Given the description of an element on the screen output the (x, y) to click on. 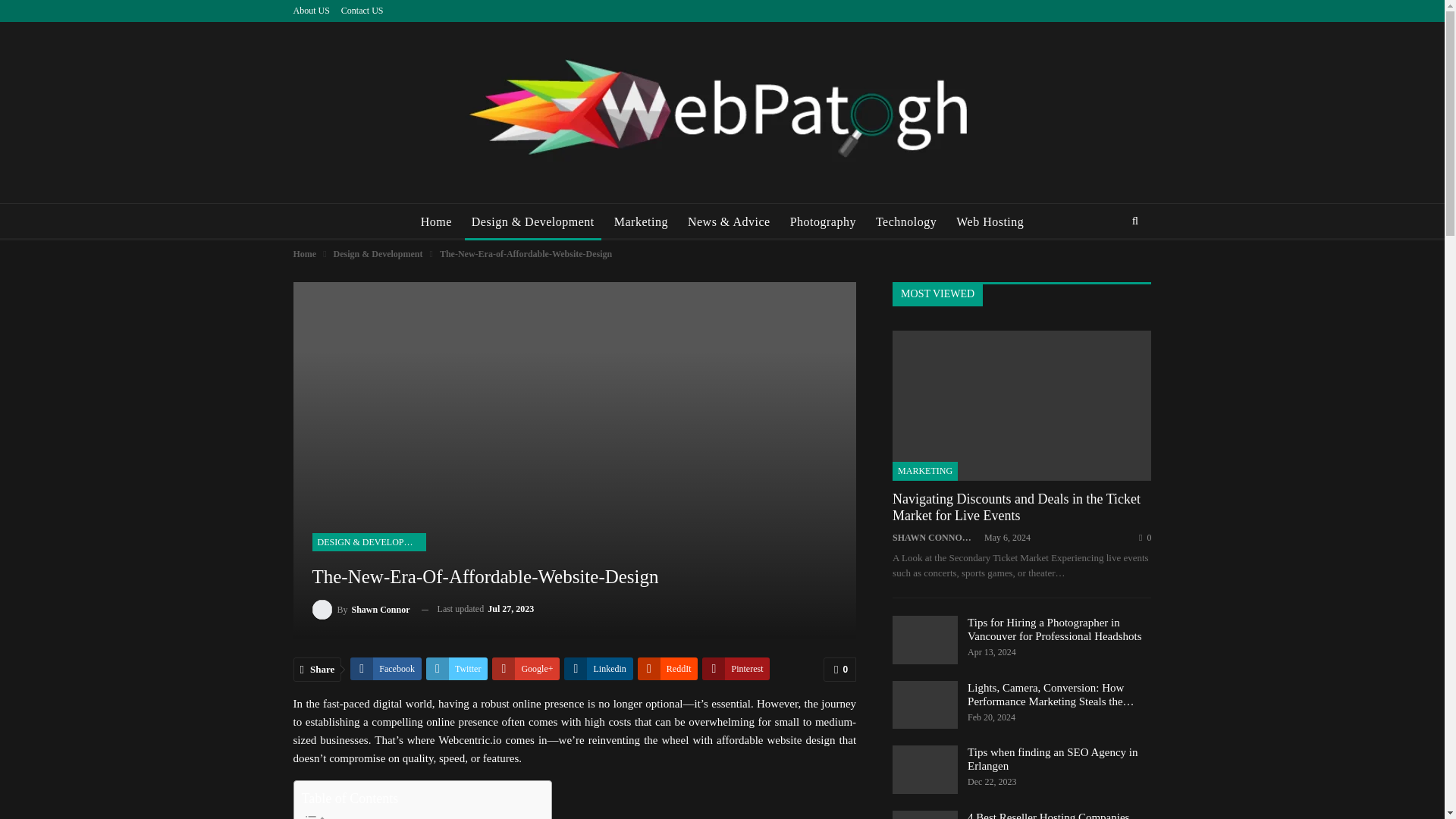
About US (310, 9)
Marketing (641, 221)
Browse Author Articles (361, 608)
Home (303, 253)
Web Hosting (989, 221)
Technology (906, 221)
0 (840, 669)
Photography (823, 221)
Twitter (456, 668)
Pinterest (735, 668)
Home (435, 221)
Linkedin (597, 668)
Facebook (386, 668)
ReddIt (667, 668)
